Given the description of an element on the screen output the (x, y) to click on. 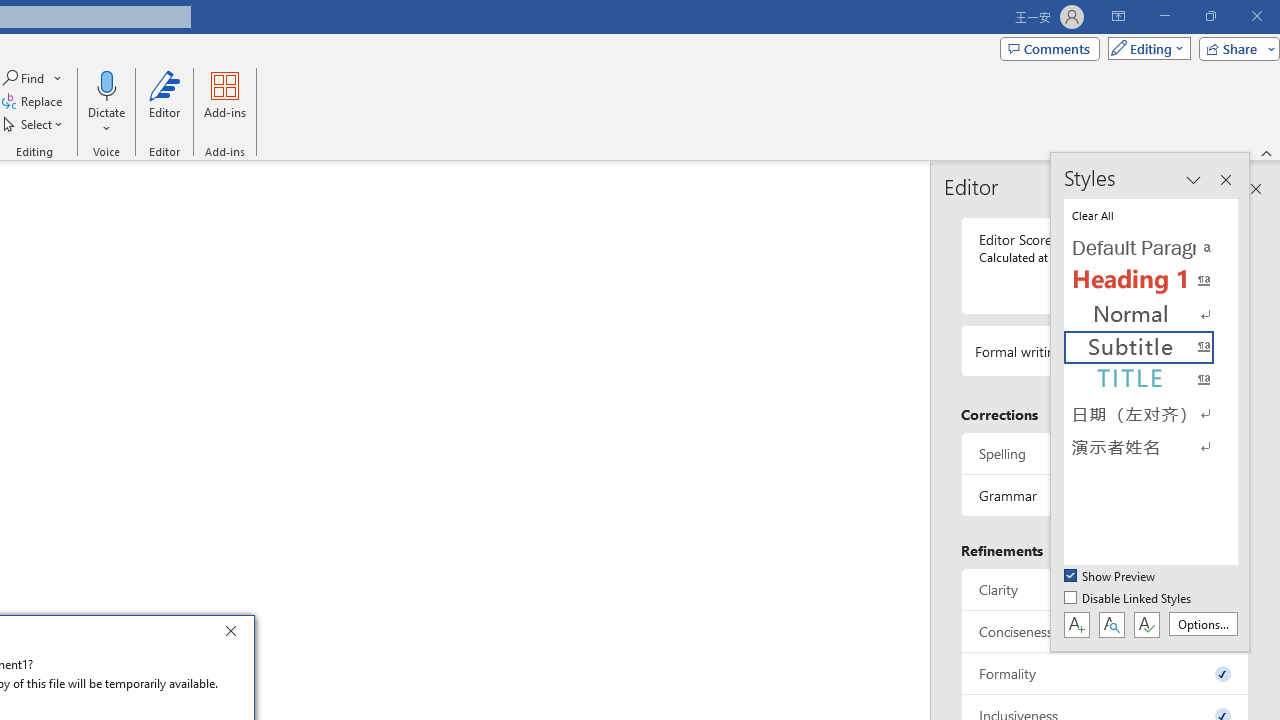
Clear All (1150, 214)
Disable Linked Styles (1129, 599)
Grammar, 1 issue. Press space or enter to review items. (1105, 495)
Show Preview (1110, 577)
Clarity, 0 issues. Press space or enter to review items. (1105, 588)
Conciseness, 0 issues. Press space or enter to review items. (1105, 631)
Default Paragraph Font (1150, 247)
